Given the description of an element on the screen output the (x, y) to click on. 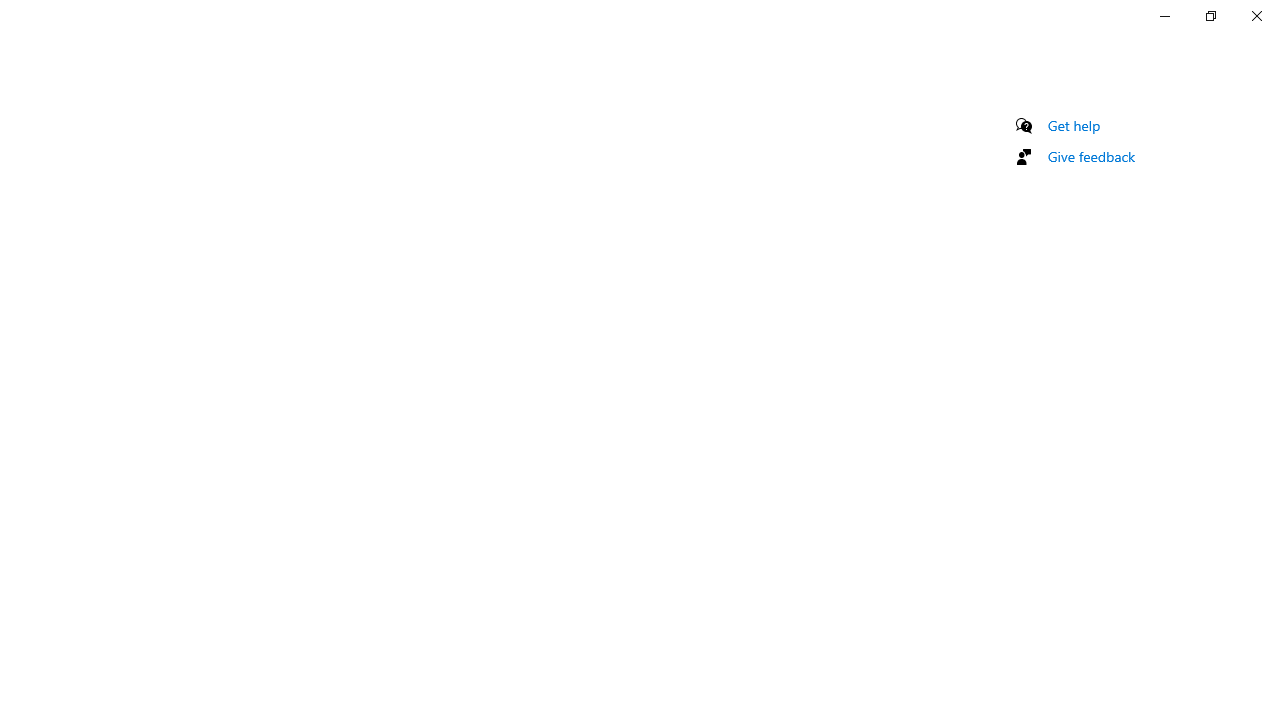
Close Settings (1256, 15)
Minimize Settings (1164, 15)
Give feedback (1091, 156)
Get help (1074, 125)
Restore Settings (1210, 15)
